Given the description of an element on the screen output the (x, y) to click on. 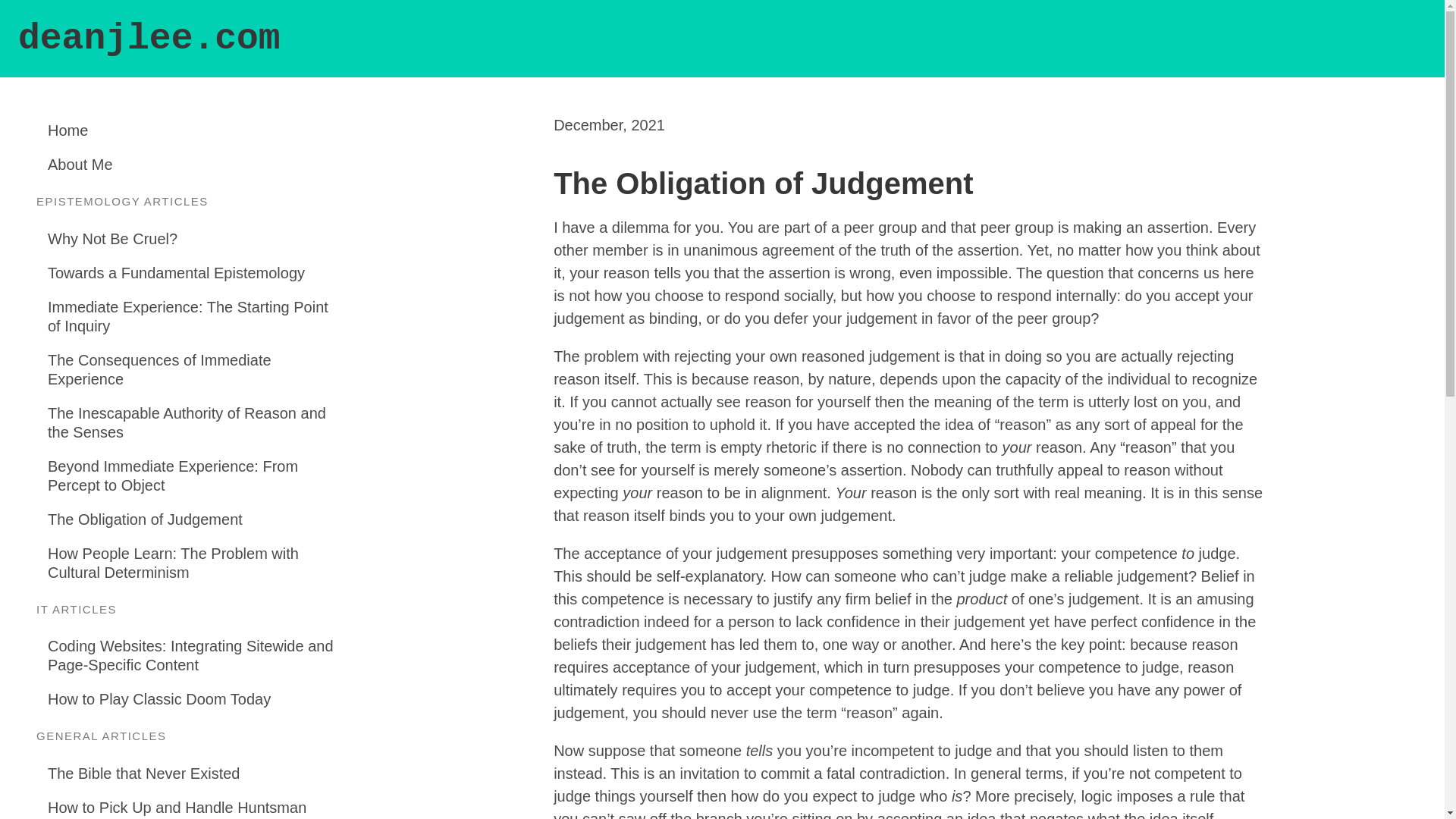
Why Not Be Cruel? (194, 238)
How to Pick Up and Handle Huntsman Spiders (194, 804)
The Consequences of Immediate Experience (194, 369)
About Me (194, 164)
The Inescapable Authority of Reason and the Senses (194, 421)
How People Learn: The Problem with Cultural Determinism (194, 563)
The Bible that Never Existed (194, 773)
How to Play Classic Doom Today (194, 699)
The Obligation of Judgement (194, 519)
Beyond Immediate Experience: From Percept to Object (194, 475)
Towards a Fundamental Epistemology (194, 273)
Immediate Experience: The Starting Point of Inquiry (194, 316)
Home (194, 130)
deanjlee.com (149, 38)
